Given the description of an element on the screen output the (x, y) to click on. 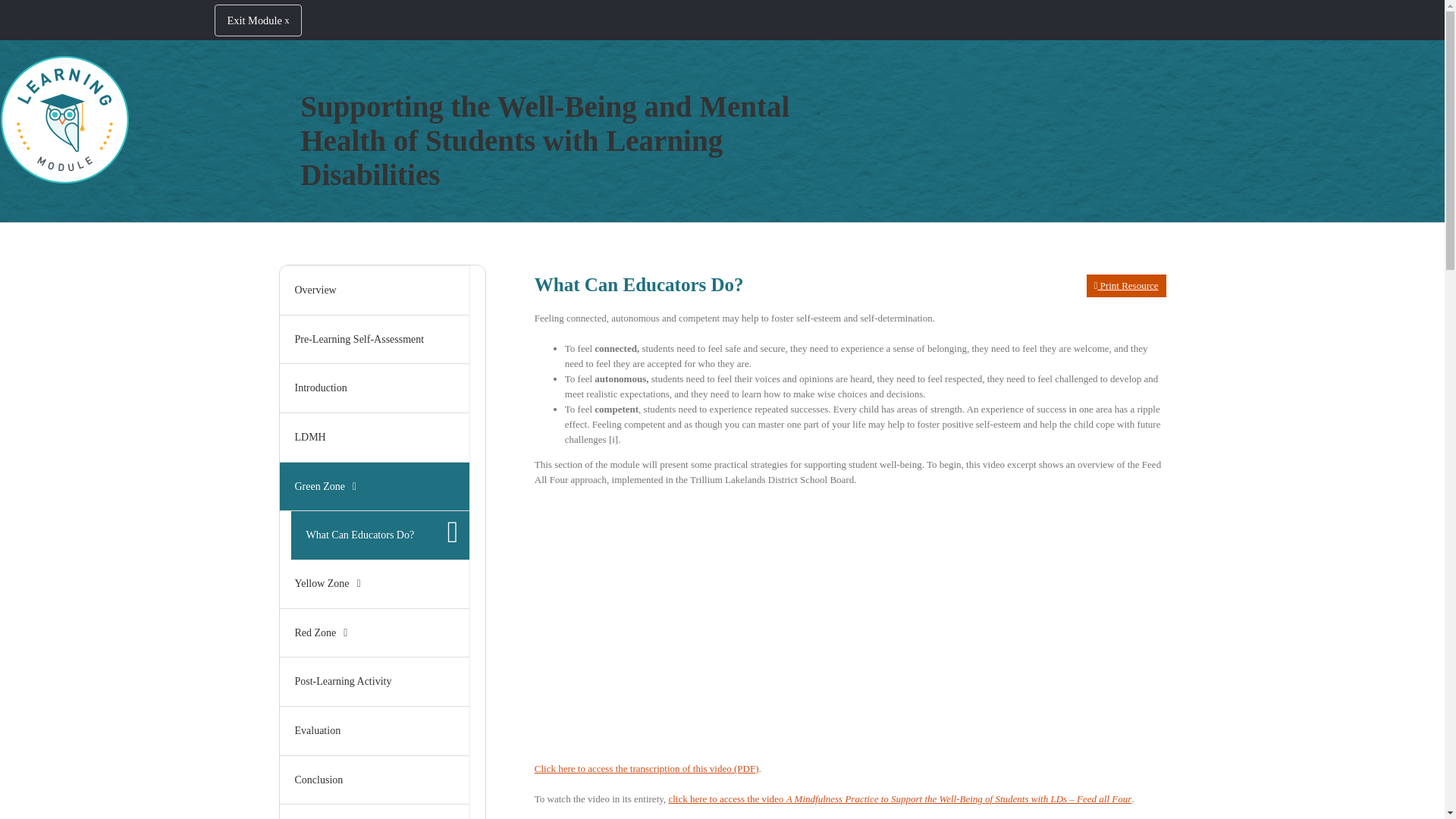
Overview (373, 290)
Click here to access the transcription of this video (646, 767)
Pre-Learning Self-Assessment (373, 339)
Introduction (373, 388)
Print Resource (1126, 285)
Exit Module x (257, 20)
